Given the description of an element on the screen output the (x, y) to click on. 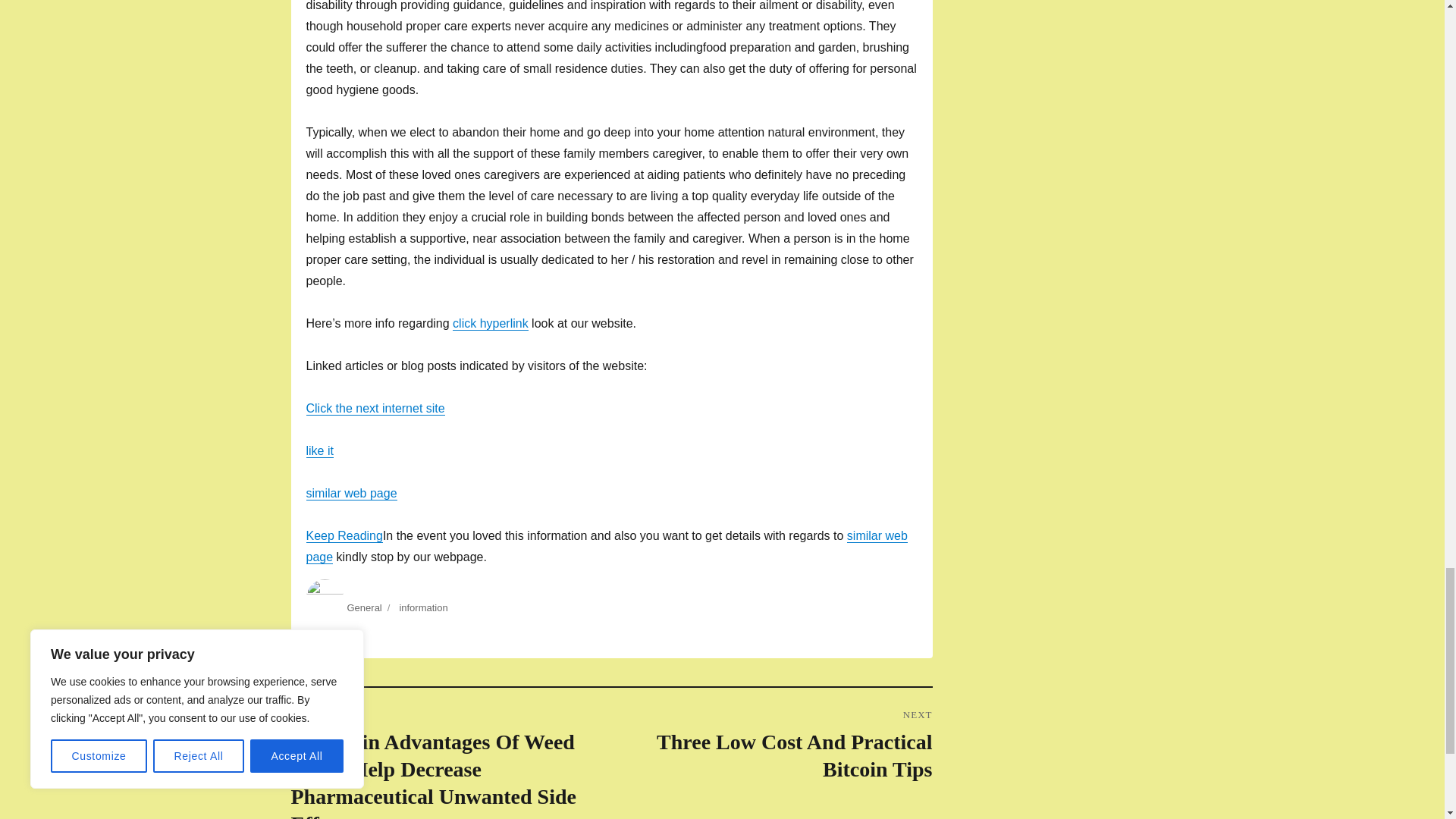
click hyperlink (490, 323)
information (422, 607)
Click the next internet site (375, 408)
similar web page (606, 546)
similar web page (351, 492)
like it (319, 450)
General (771, 745)
Keep Reading (364, 607)
